Given the description of an element on the screen output the (x, y) to click on. 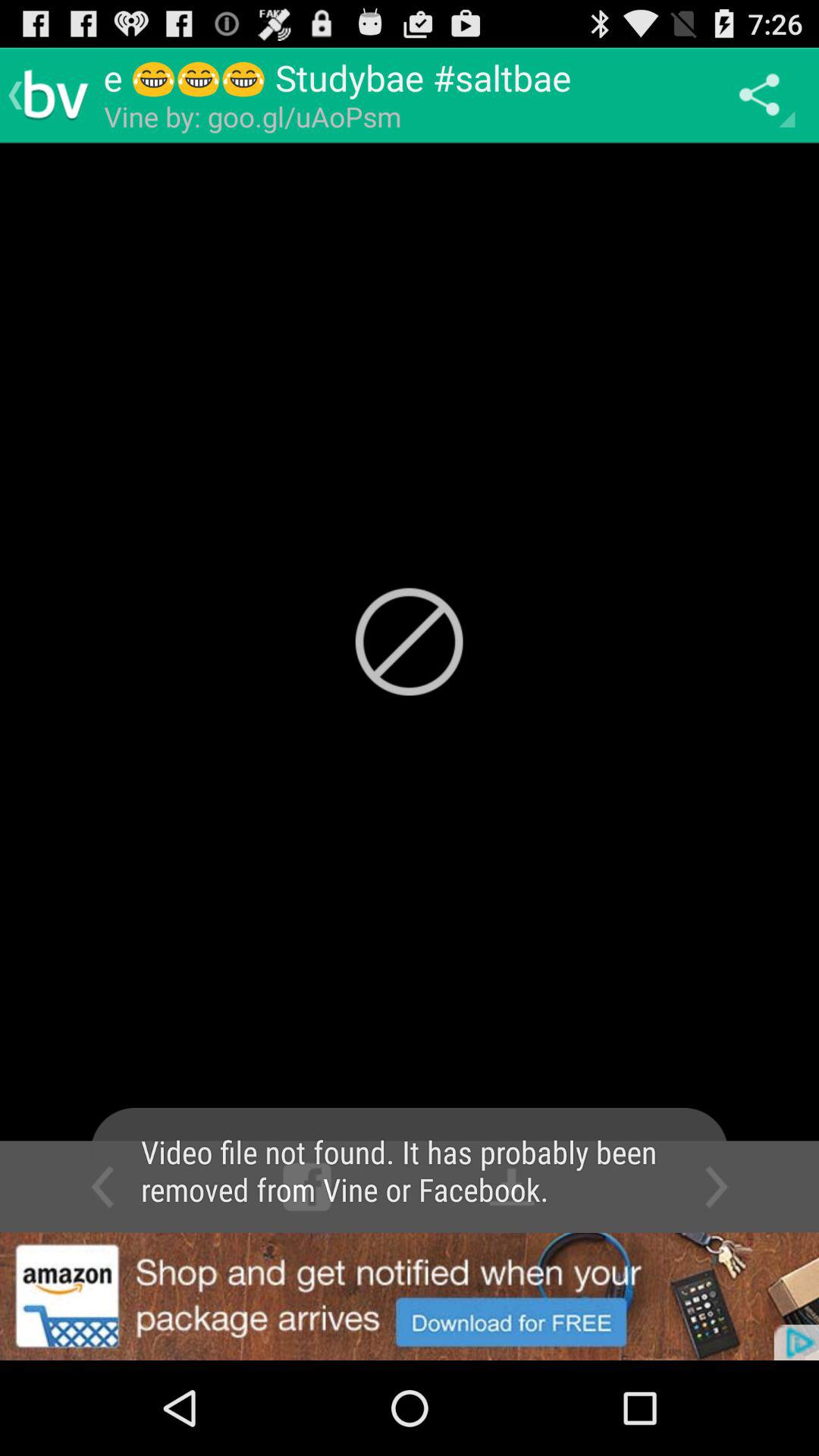
click the scroll right icon (716, 1186)
click the share icon (763, 95)
click on the share icon (763, 95)
select  the share button (763, 95)
